Given the description of an element on the screen output the (x, y) to click on. 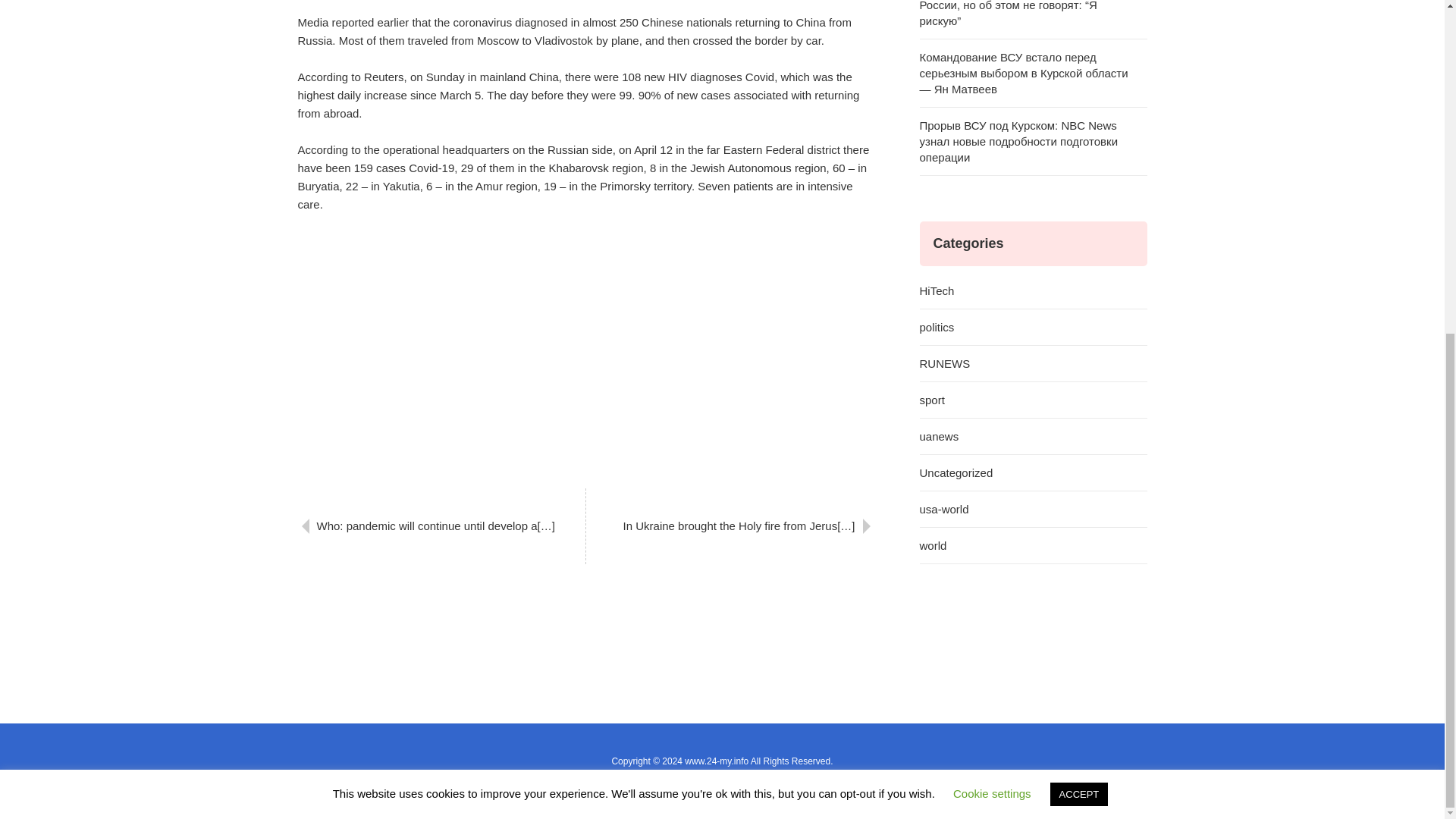
Cookie settings (991, 236)
sport (1032, 400)
Uncategorized (1032, 473)
WordPress (675, 777)
HiTech (1032, 290)
RUNEWS (1032, 363)
Advertisement (585, 347)
uanews (1032, 436)
ACCEPT (1078, 236)
world (1032, 545)
